Given the description of an element on the screen output the (x, y) to click on. 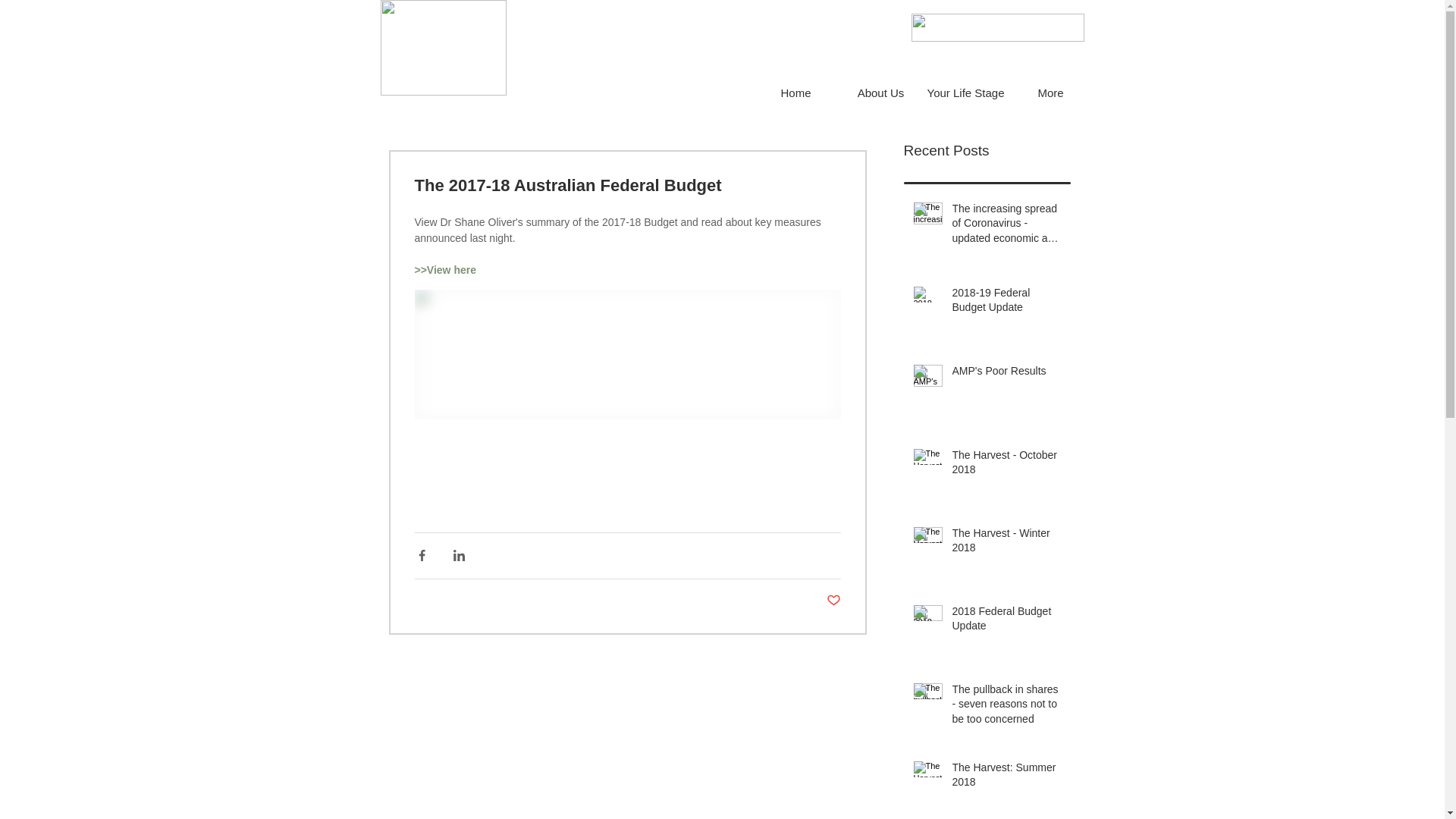
AMP's Poor Results Element type: text (1006, 374)
2018-19 Federal Budget Update Element type: text (1006, 303)
2018 Federal Budget Update Element type: text (1006, 622)
  Element type: text (415, 470)
Post not marked as liked Element type: text (833, 600)
The Harvest - Winter 2018 Element type: text (1006, 543)
The Harvest - October 2018 Element type: text (1006, 465)
>>View here Element type: text (444, 269)
The Harvest: Summer 2018 Element type: text (1006, 778)
Home Element type: text (795, 92)
